Given the description of an element on the screen output the (x, y) to click on. 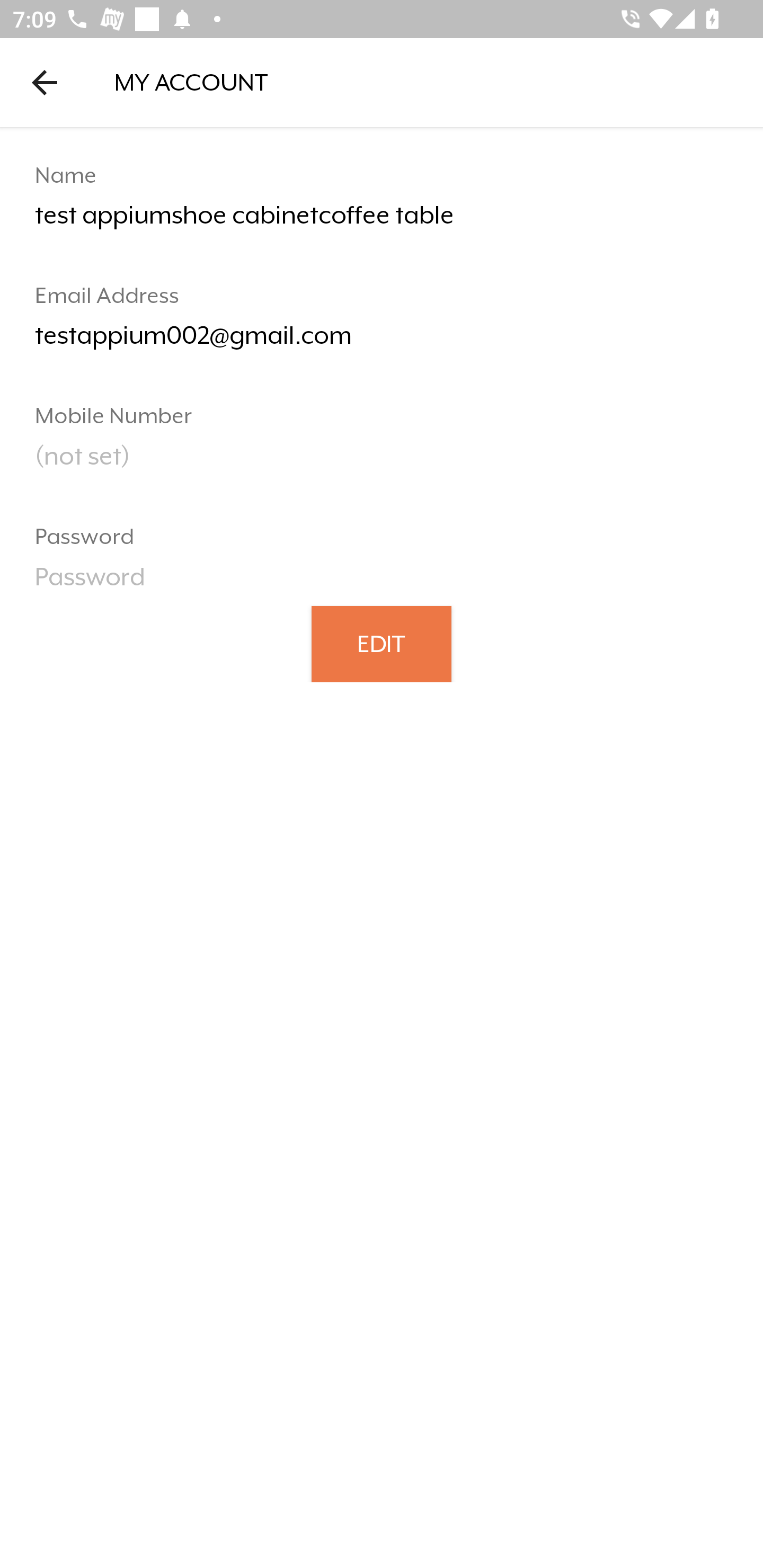
Navigate up (44, 82)
test appiumshoe cabinetcoffee table (381, 222)
testappium002@gmail.com (381, 342)
Password (381, 583)
EDIT (381, 643)
